Given the description of an element on the screen output the (x, y) to click on. 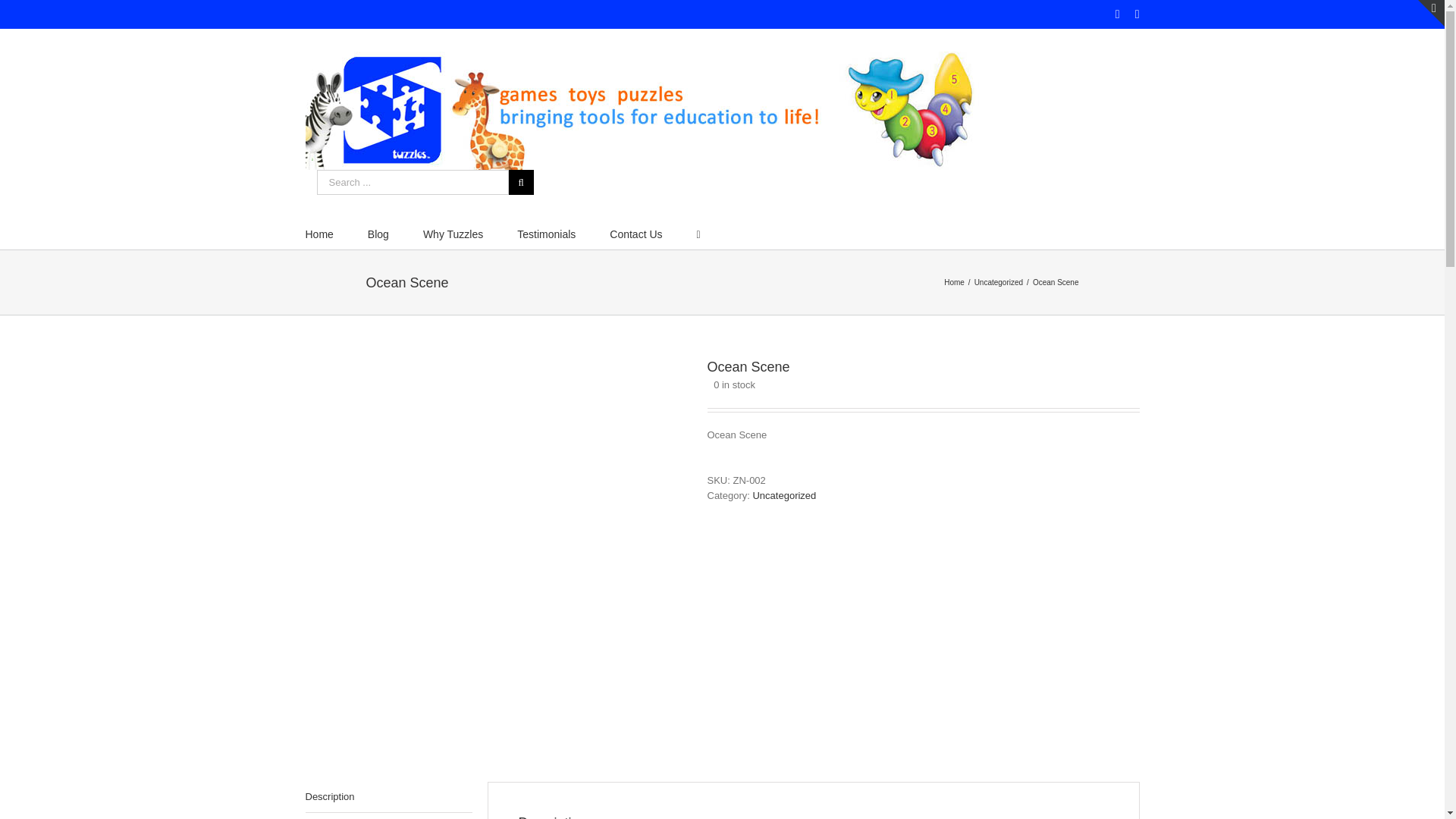
Contact Us (636, 233)
Additional information (387, 816)
Description (387, 797)
Testimonials (545, 233)
Home (953, 281)
Uncategorized (783, 495)
Uncategorized (998, 281)
Why Tuzzles (453, 233)
Home (318, 233)
